Given the description of an element on the screen output the (x, y) to click on. 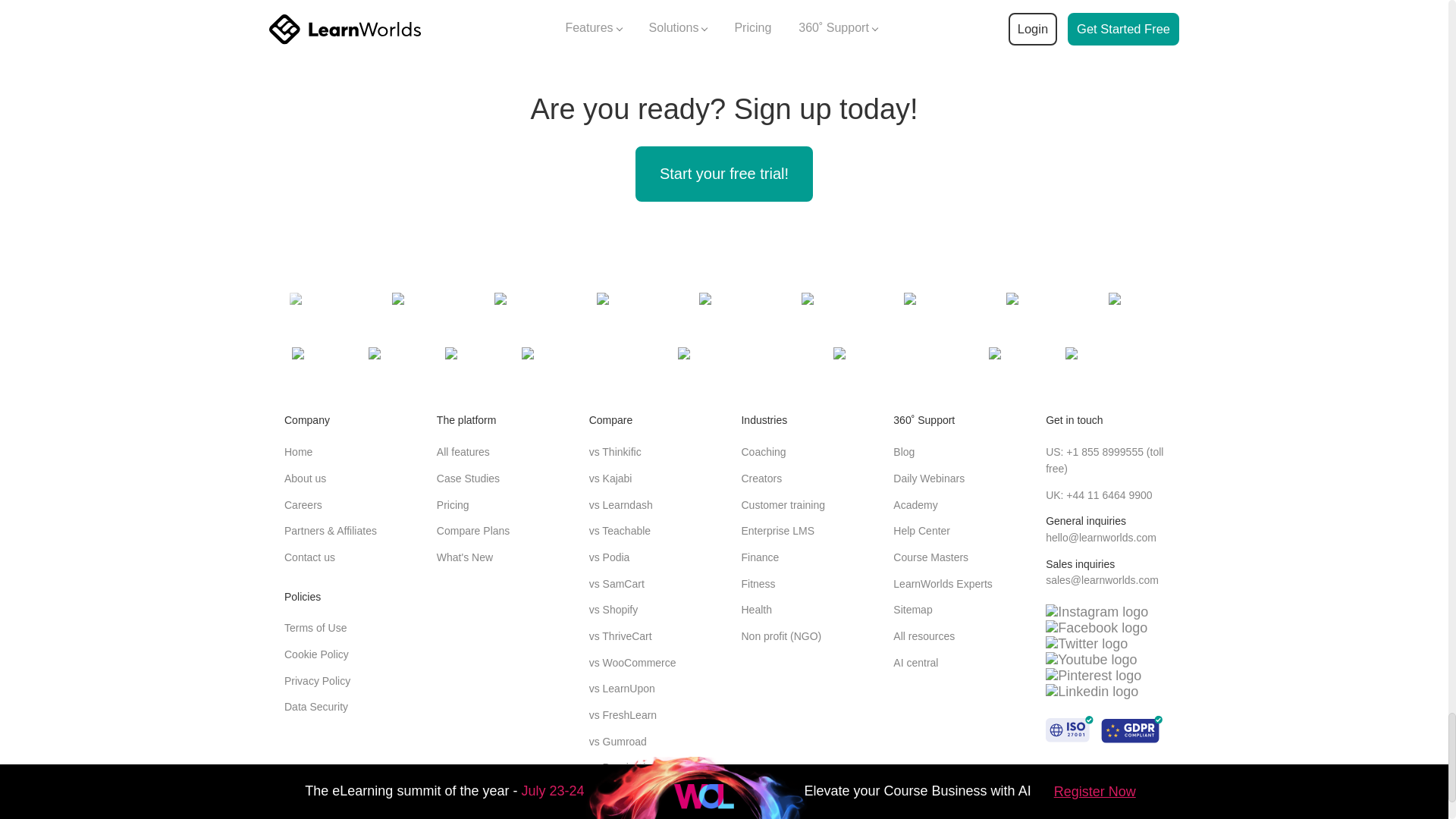
send email to LearnWorlds (1101, 580)
send email to LearnWorlds (1100, 537)
